Given the description of an element on the screen output the (x, y) to click on. 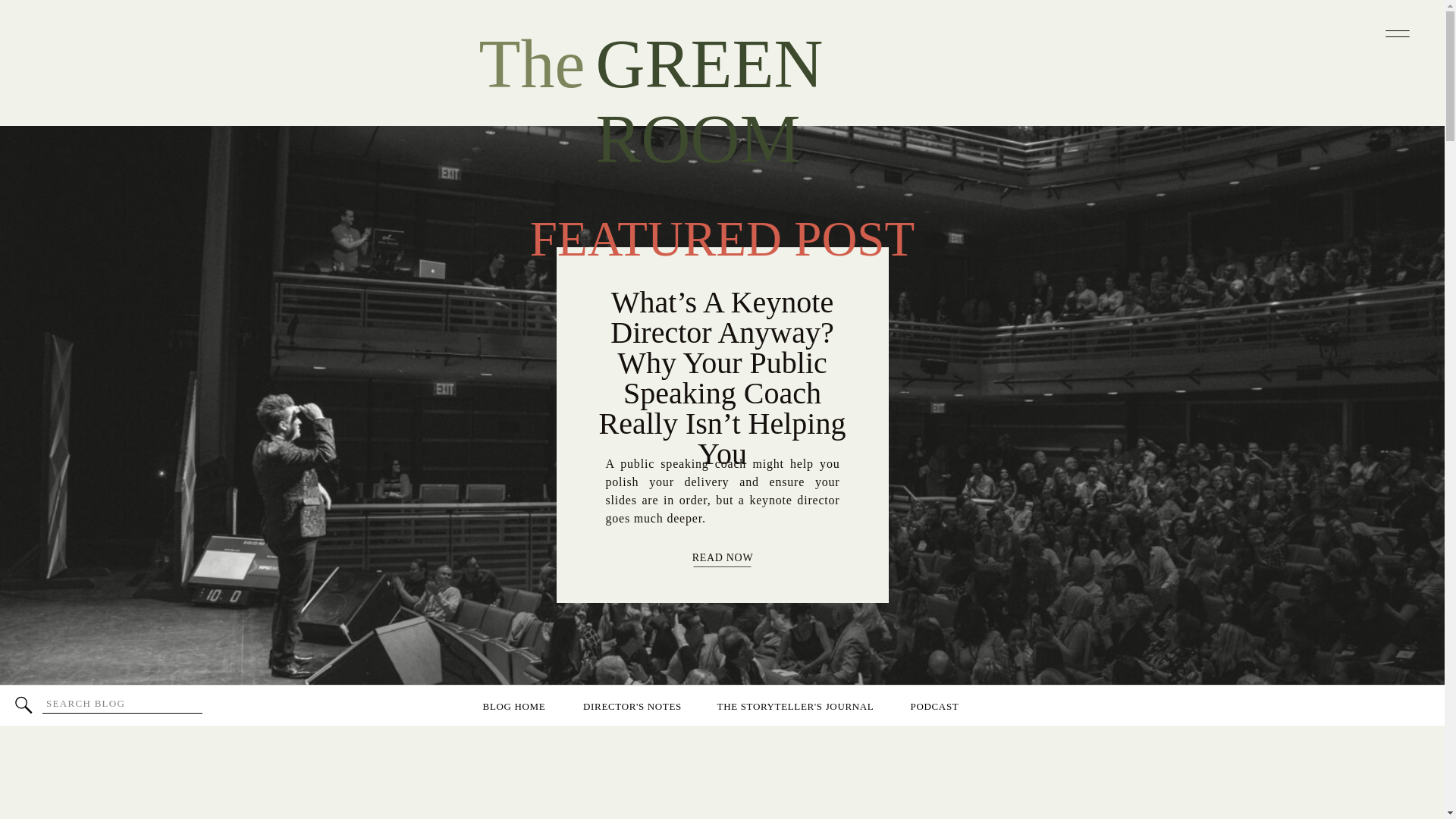
READ NOW (722, 559)
THE STORYTELLER'S JOURNAL (795, 705)
PODCAST (933, 705)
BLOG HOME (513, 705)
DIRECTOR'S NOTES (631, 705)
